Given the description of an element on the screen output the (x, y) to click on. 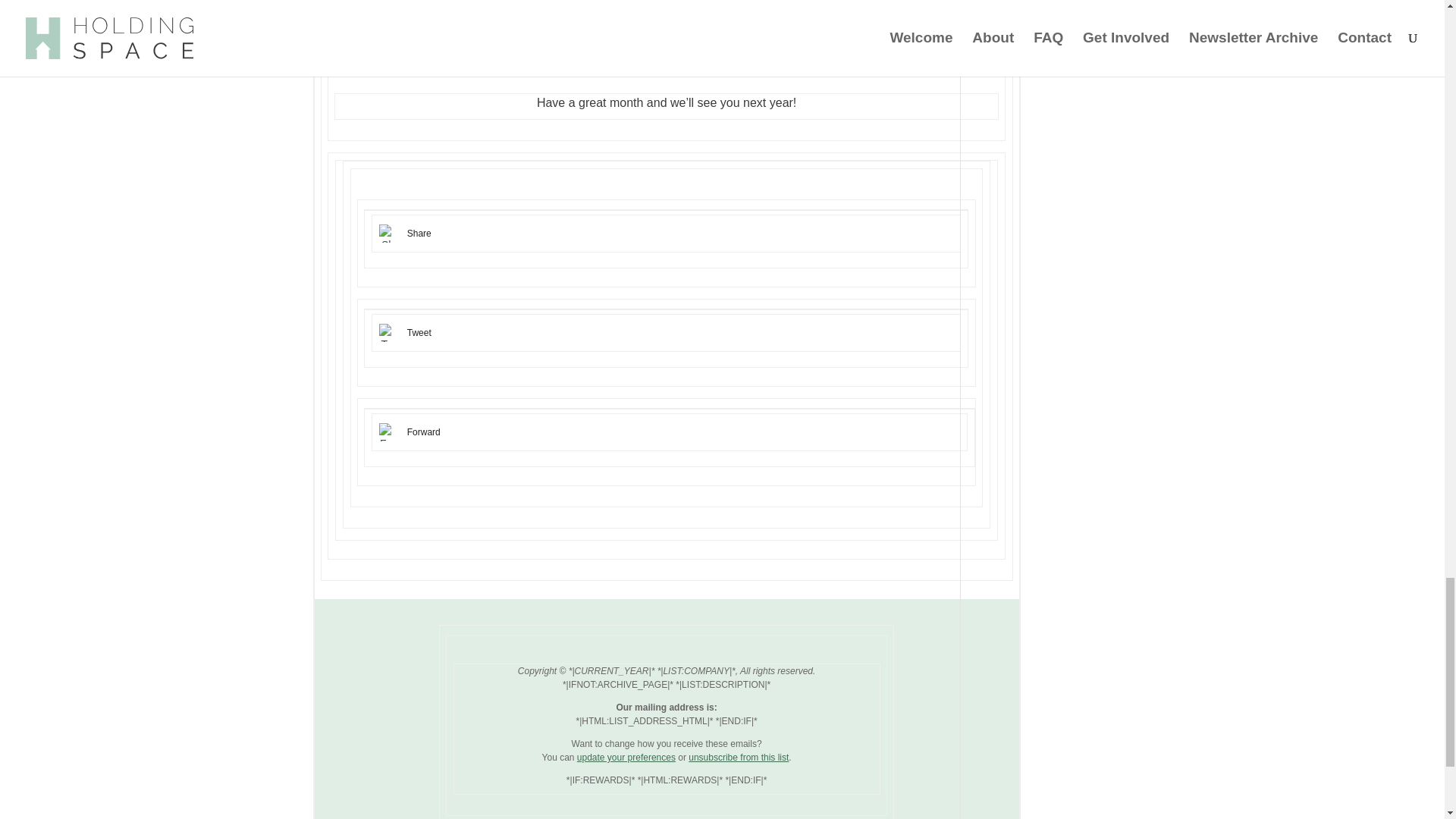
Tweet (418, 332)
Forward (424, 431)
update your preferences (625, 757)
unsubscribe from this list (738, 757)
Share (418, 233)
